Given the description of an element on the screen output the (x, y) to click on. 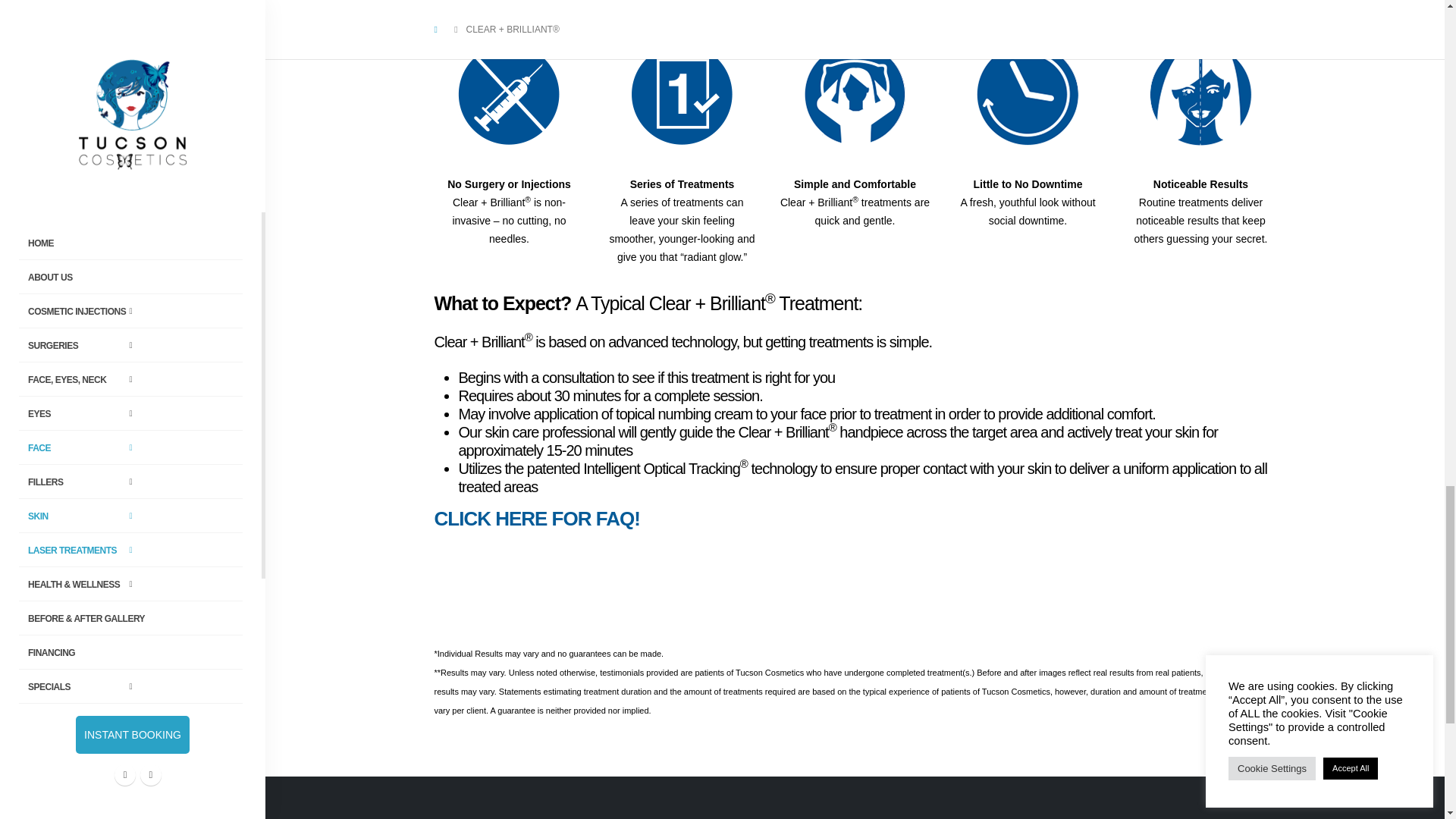
Play (453, 2)
Fullscreen (1255, 2)
Mute (1231, 2)
